Given the description of an element on the screen output the (x, y) to click on. 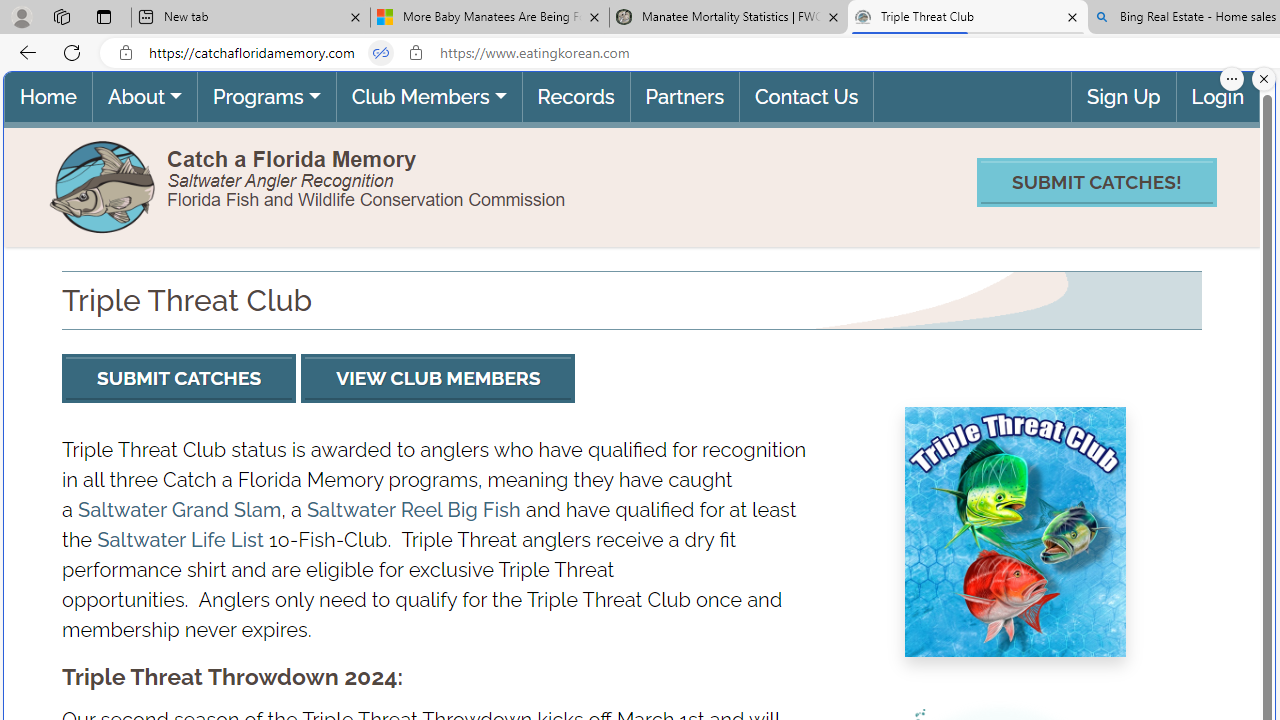
Partners (683, 96)
SUBMIT CATCHES (178, 378)
Personal Profile (21, 16)
Club Members (428, 96)
Close split screen. (1264, 79)
Sign Up (1123, 96)
Login (1217, 96)
Club Members (428, 96)
New tab (250, 17)
Partners (683, 96)
Saltwater Reel Big Fish (412, 509)
Records (574, 96)
More options. (1232, 79)
Back (24, 52)
SUBMIT CATCHES! (1096, 182)
